Given the description of an element on the screen output the (x, y) to click on. 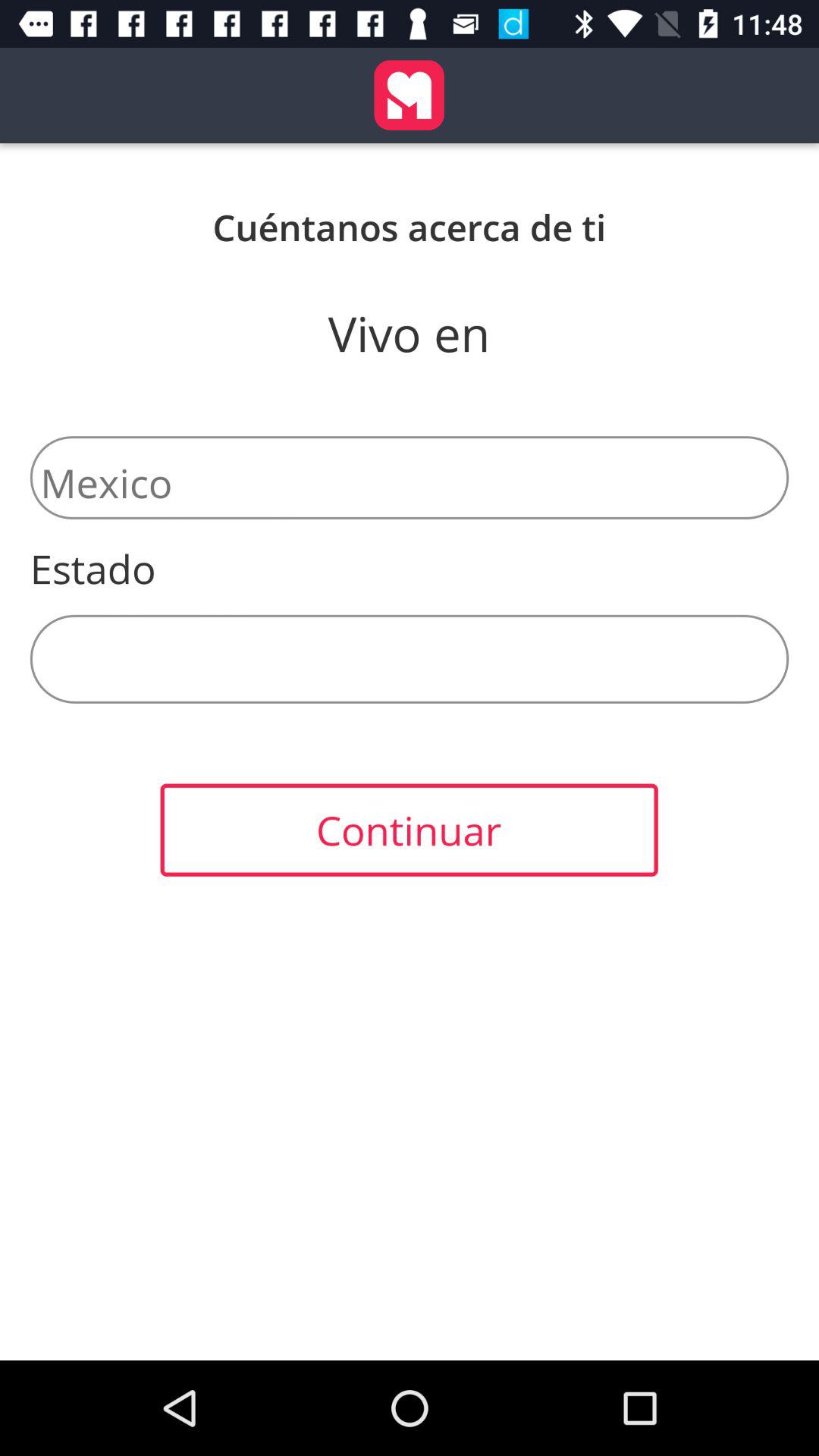
choose the mexico item (409, 477)
